Given the description of an element on the screen output the (x, y) to click on. 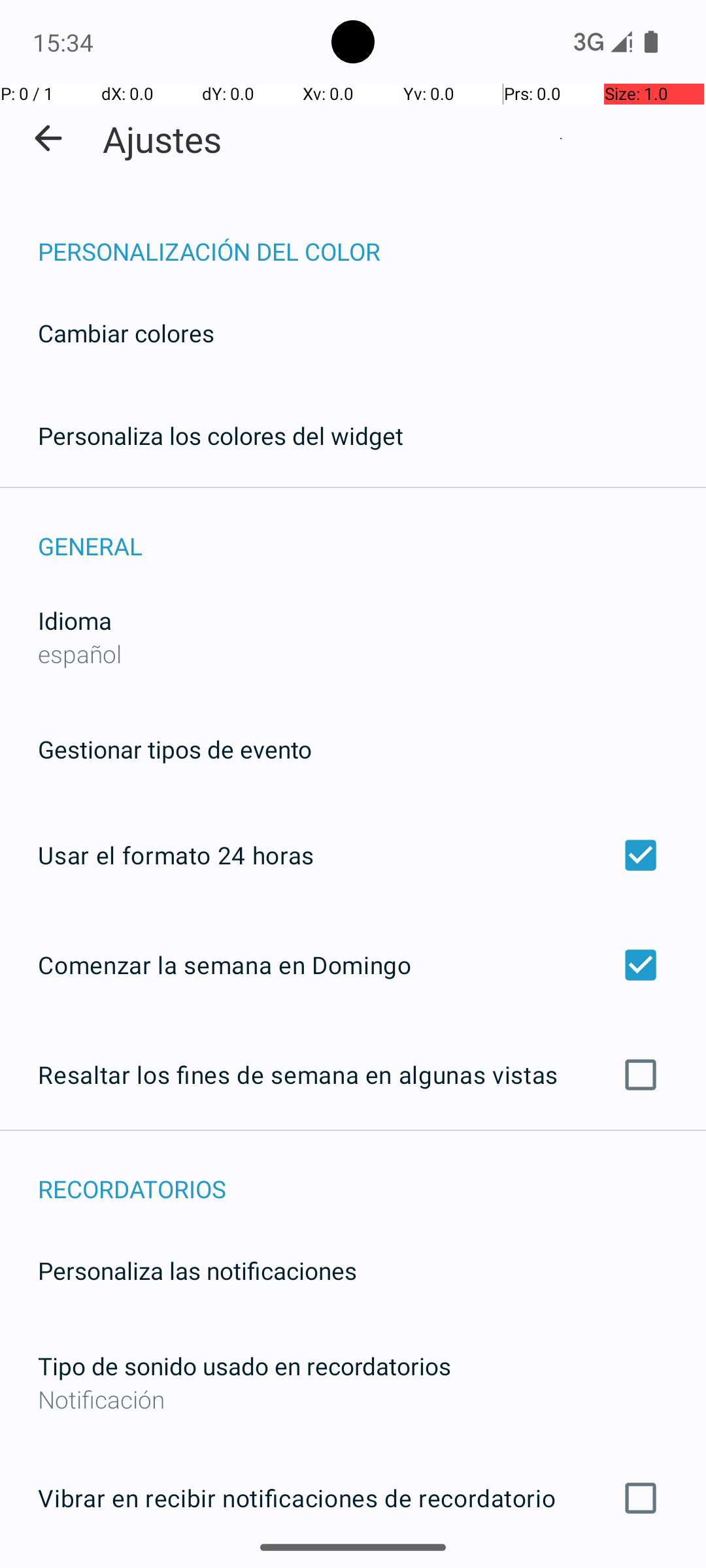
PERSONALIZACIÓN DEL COLOR Element type: android.widget.TextView (371, 237)
RECORDATORIOS Element type: android.widget.TextView (371, 1174)
Cambiar colores Element type: android.widget.TextView (125, 332)
Personaliza los colores del widget Element type: android.widget.TextView (220, 435)
Idioma Element type: android.widget.TextView (74, 620)
español Element type: android.widget.TextView (79, 653)
Gestionar tipos de evento Element type: android.widget.TextView (174, 748)
Usar el formato 24 horas Element type: android.widget.CheckBox (352, 855)
Comenzar la semana en Domingo Element type: android.widget.CheckBox (352, 964)
Resaltar los fines de semana en algunas vistas Element type: android.widget.CheckBox (352, 1074)
Personaliza las notificaciones Element type: android.widget.TextView (196, 1270)
Tipo de sonido usado en recordatorios Element type: android.widget.TextView (244, 1365)
Notificación Element type: android.widget.TextView (352, 1398)
Vibrar en recibir notificaciones de recordatorio Element type: android.widget.CheckBox (352, 1497)
Repetir recordatorios hasta ser descartados Element type: android.widget.CheckBox (352, 1567)
